Given the description of an element on the screen output the (x, y) to click on. 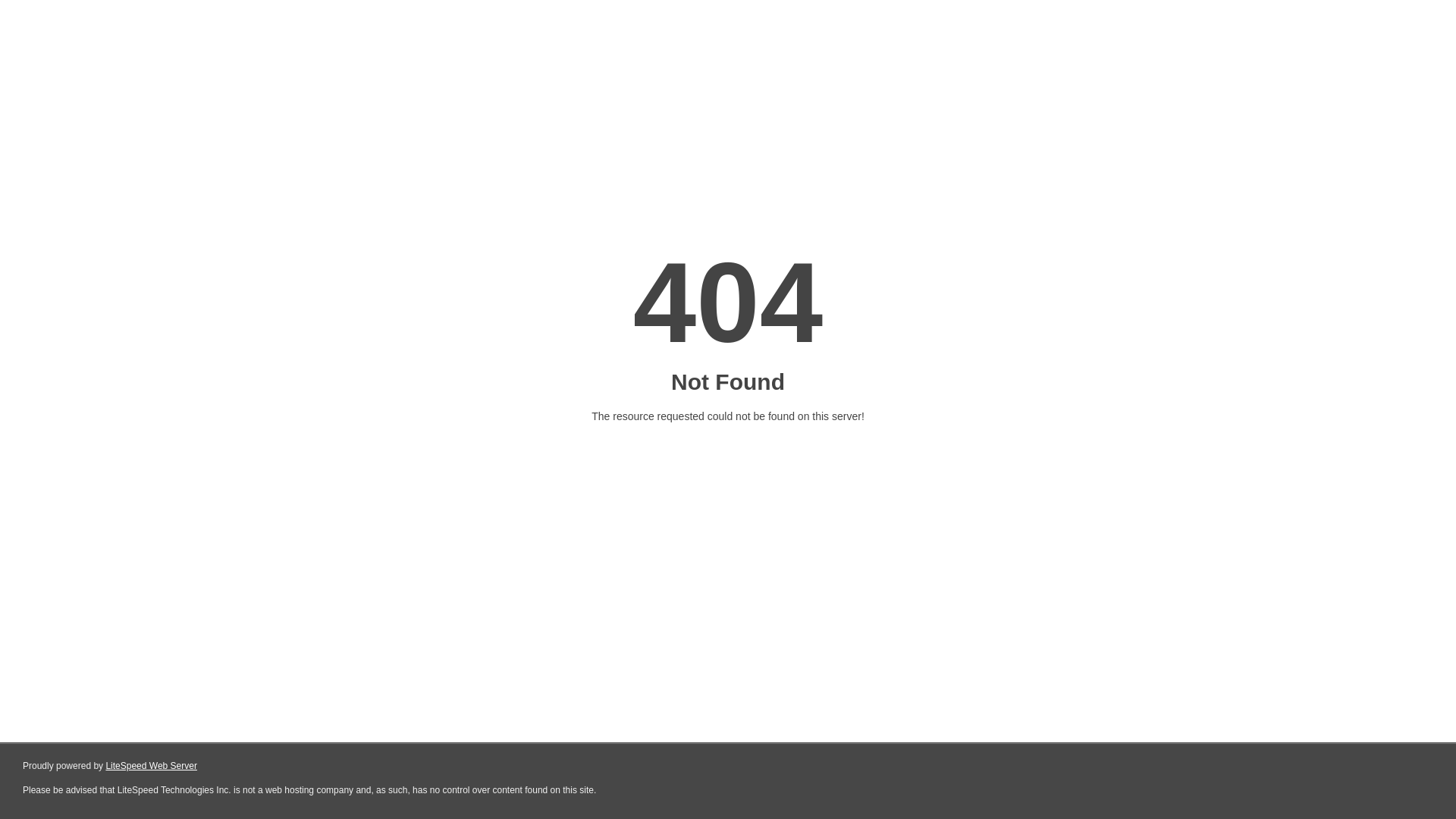
LiteSpeed Web Server Element type: text (151, 765)
